Given the description of an element on the screen output the (x, y) to click on. 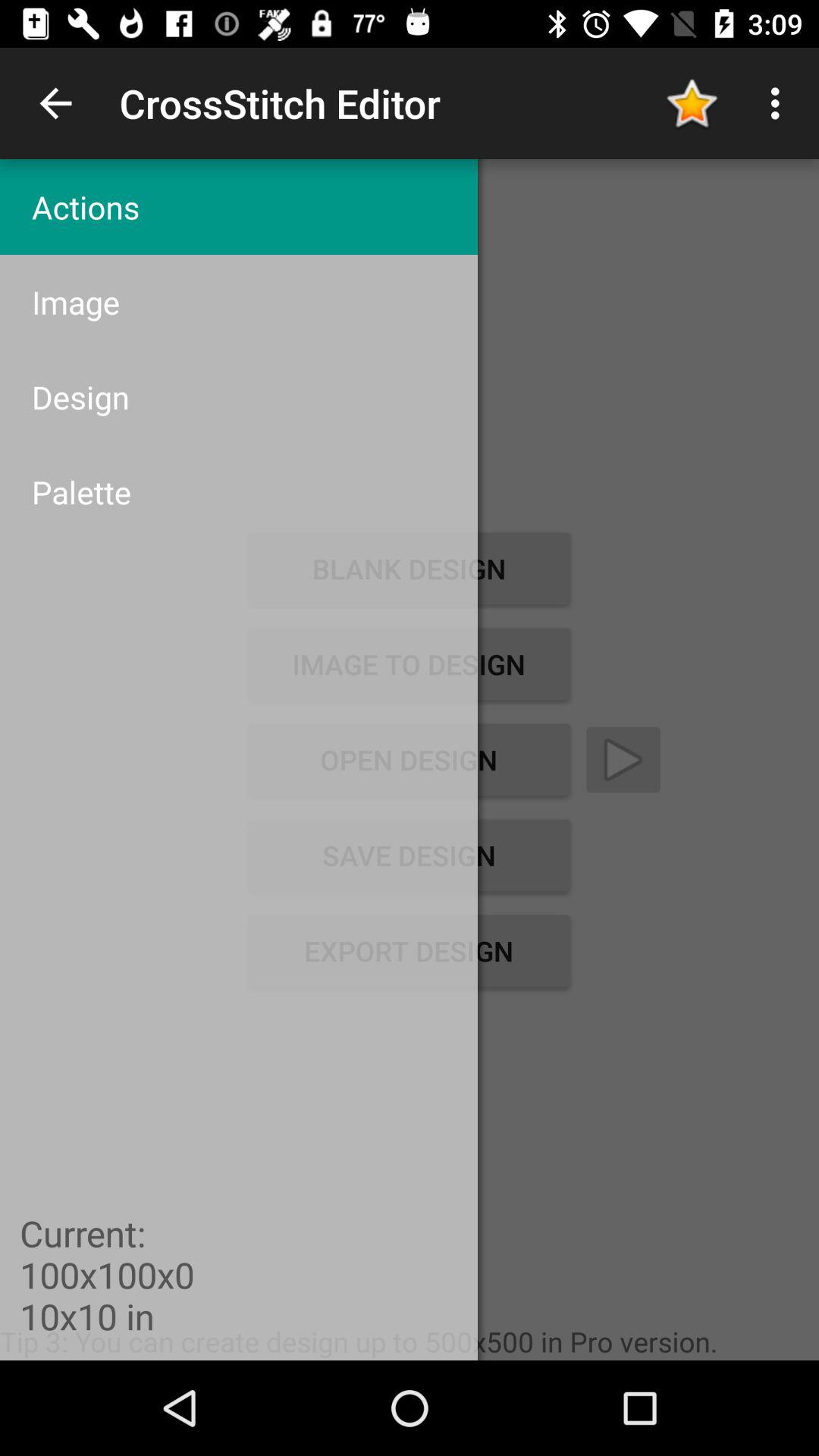
turn on item below export design item (358, 1341)
